Given the description of an element on the screen output the (x, y) to click on. 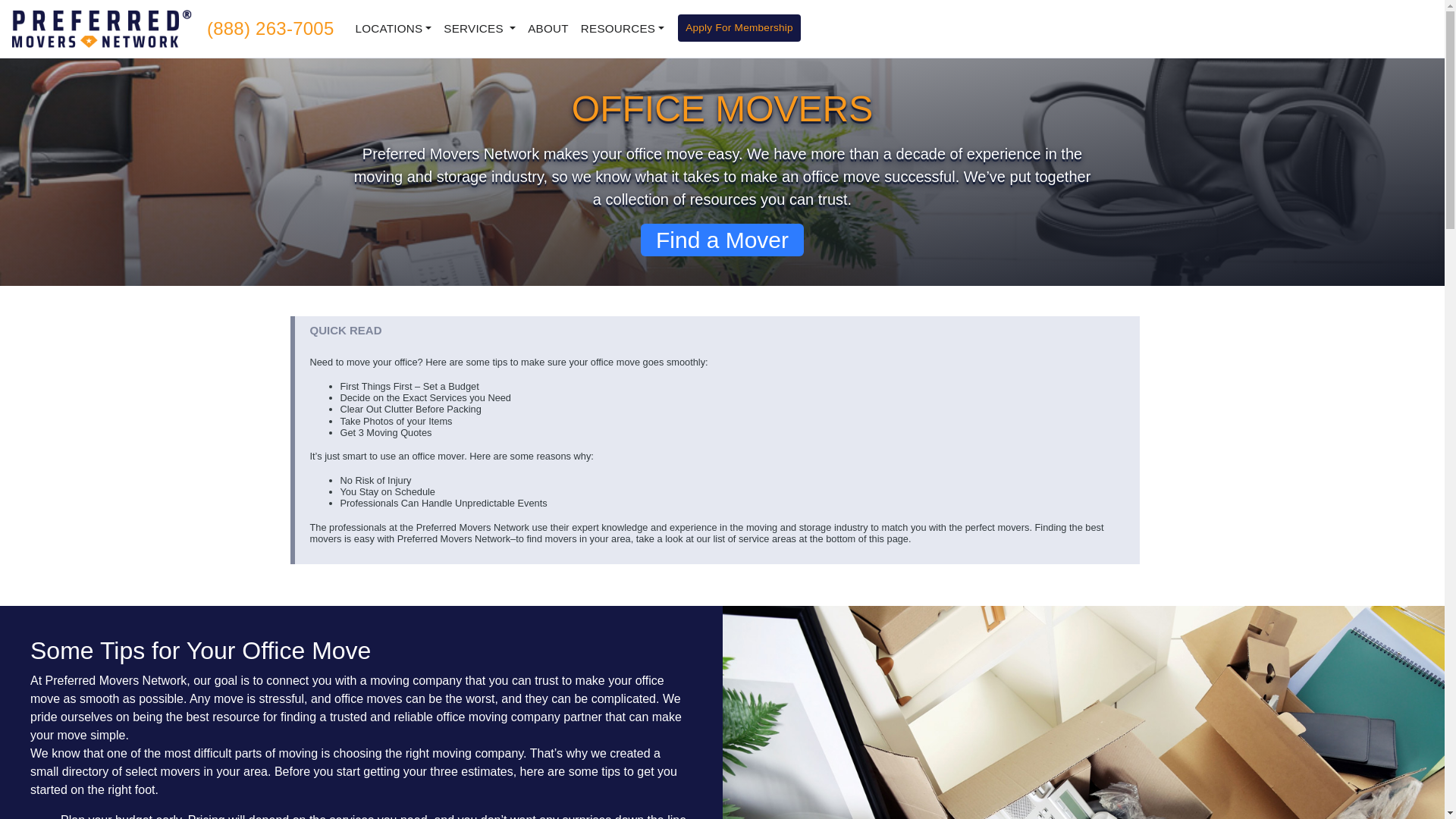
LOCATIONS (393, 29)
